Given the description of an element on the screen output the (x, y) to click on. 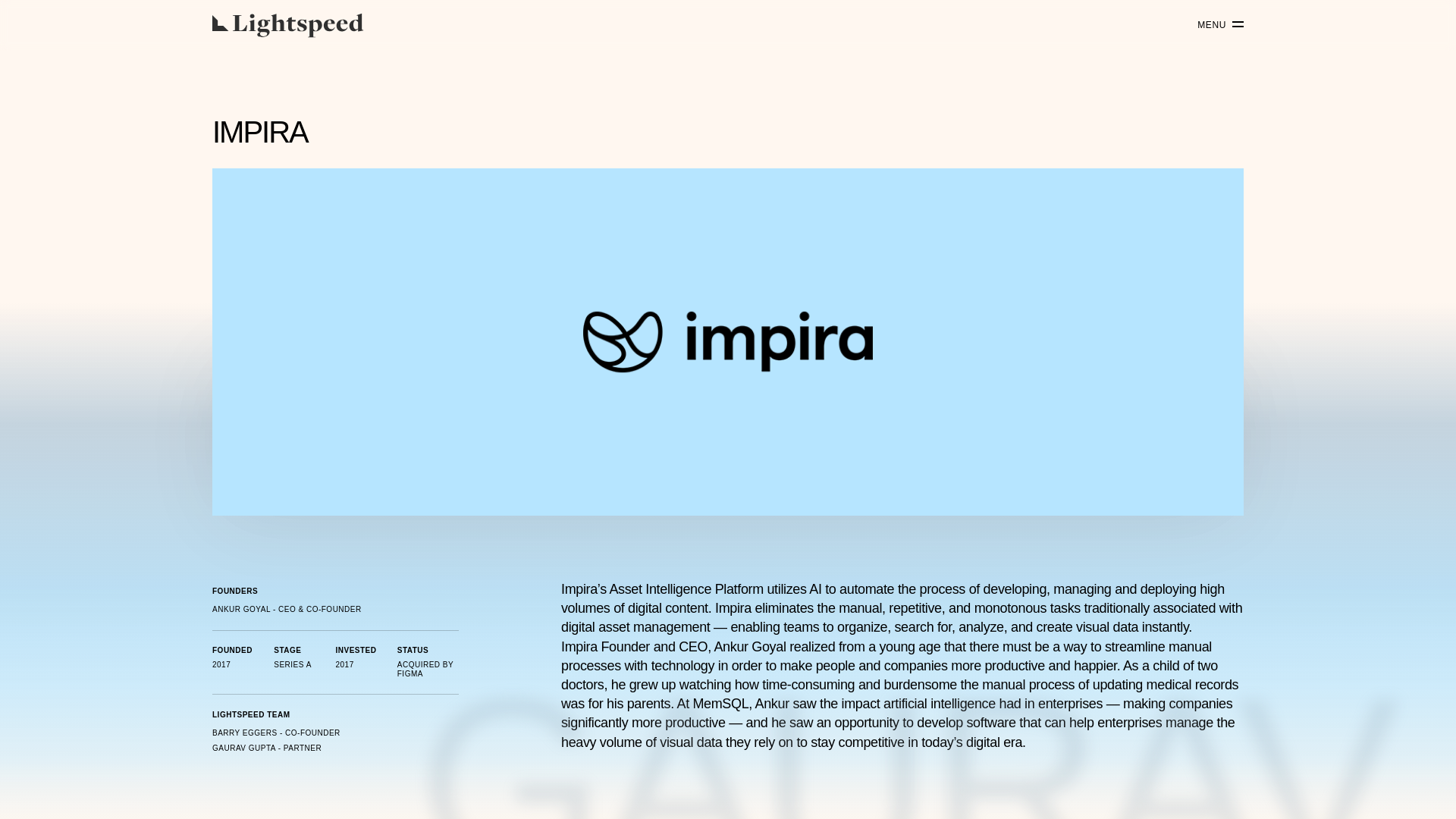
MENU (1214, 25)
